Given the description of an element on the screen output the (x, y) to click on. 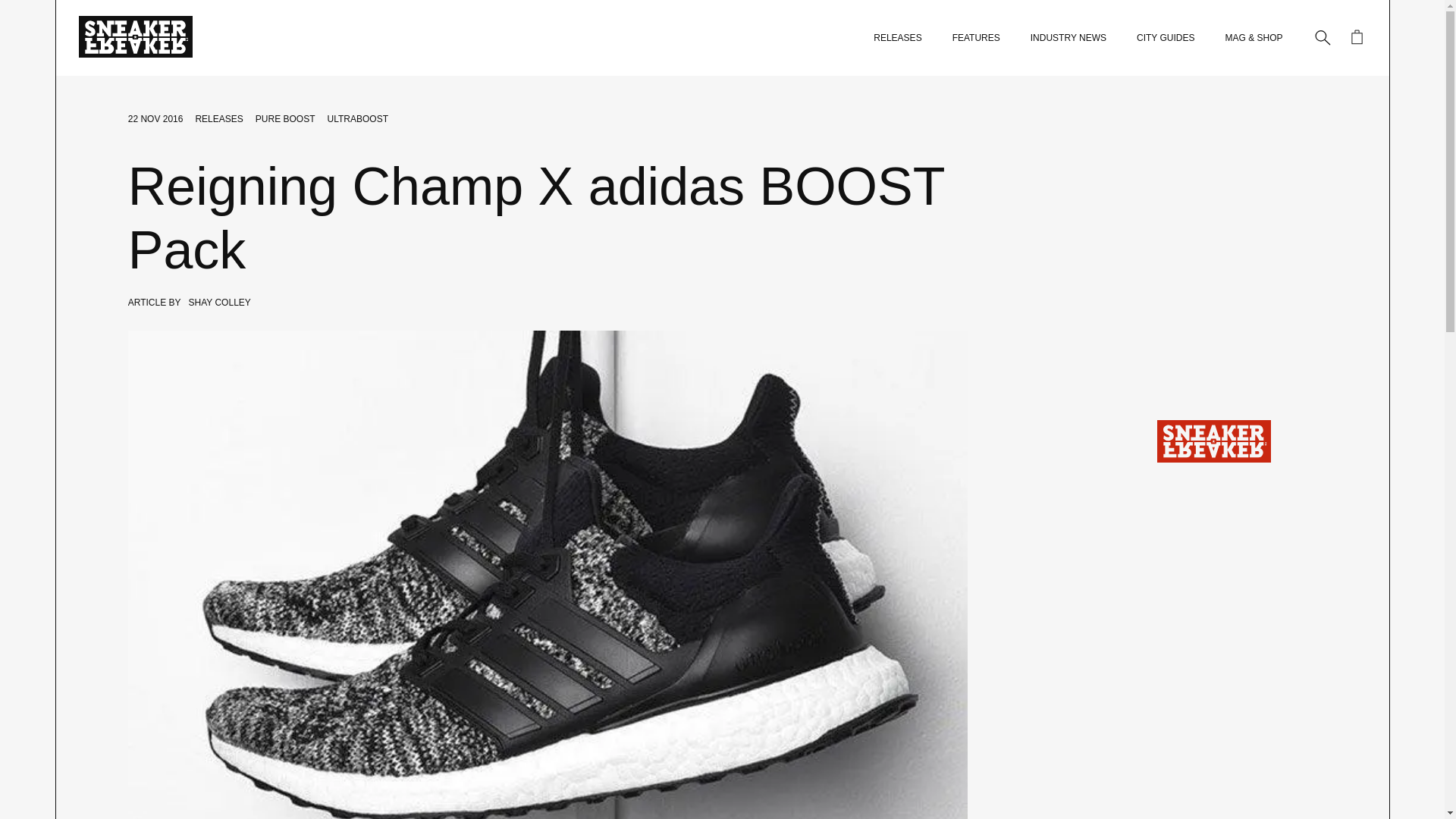
PURE BOOST (285, 118)
FEATURES (976, 37)
RELEASES (897, 37)
CITY GUIDES (1165, 37)
ULTRABOOST (357, 118)
RELEASES (219, 118)
INDUSTRY NEWS (1068, 37)
